Given the description of an element on the screen output the (x, y) to click on. 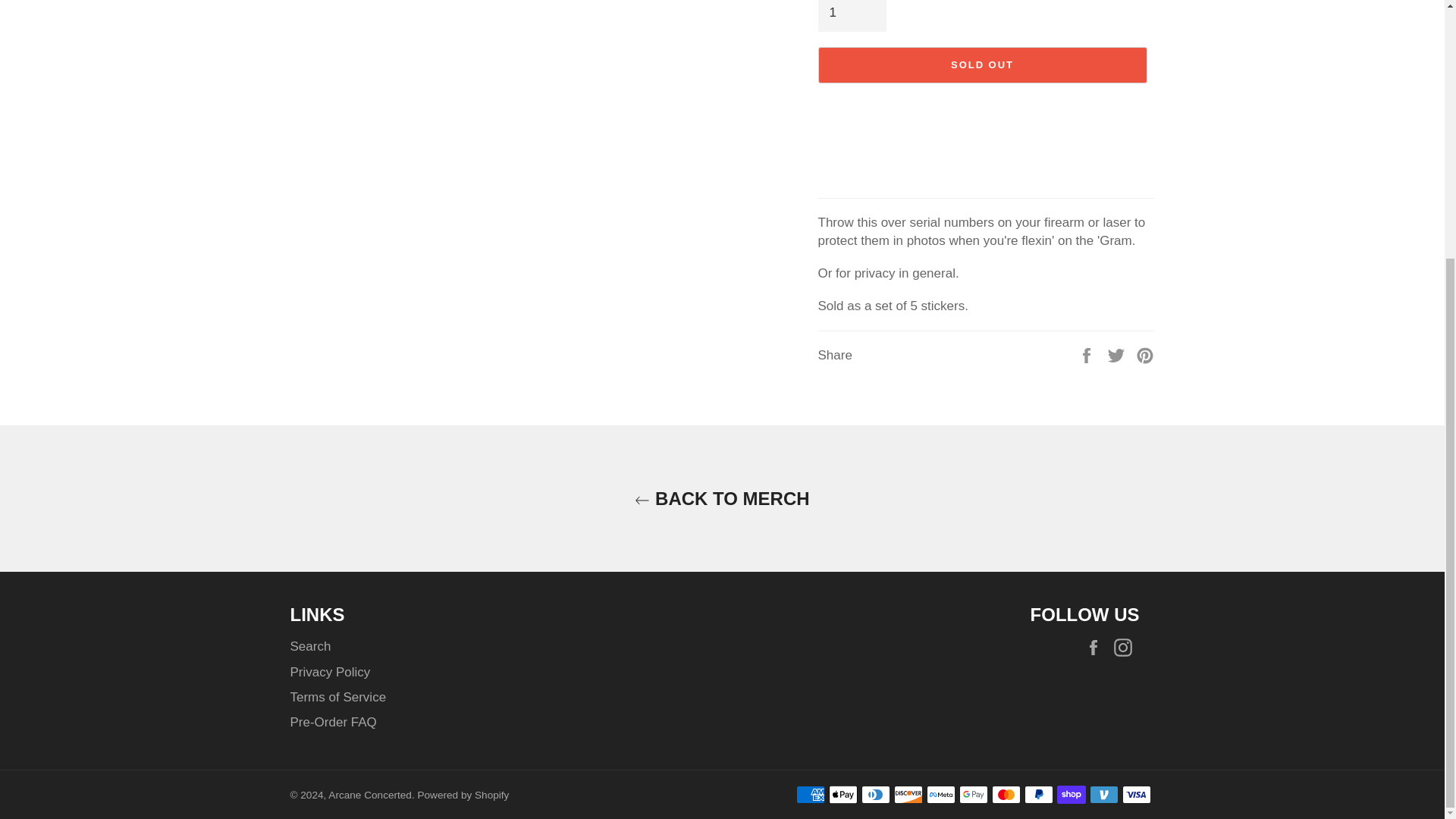
Share on Facebook (1088, 355)
Tweet on Twitter (1117, 355)
Tweet on Twitter (1117, 355)
Arcane Concerted on Instagram (1125, 647)
SOLD OUT (981, 64)
Arcane Concerted on Facebook (1096, 647)
Share on Facebook (1088, 355)
Pin on Pinterest (1144, 355)
Pin on Pinterest (1144, 355)
1 (850, 15)
